Given the description of an element on the screen output the (x, y) to click on. 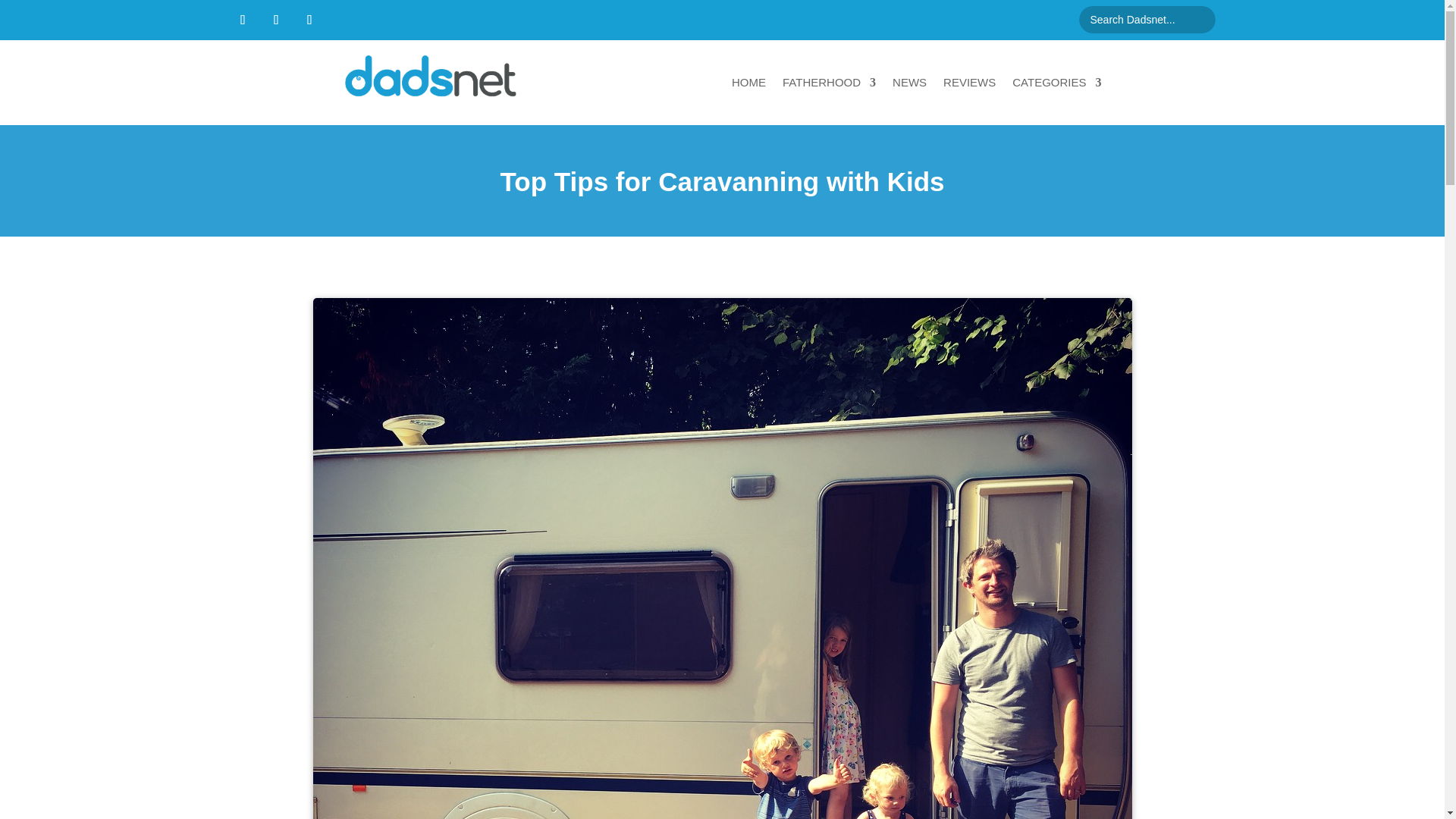
Follow on X (275, 19)
Search (24, 13)
Follow on Facebook (242, 19)
FATHERHOOD (829, 82)
CATEGORIES (1055, 82)
REVIEWS (969, 82)
Follow on Instagram (309, 19)
